Given the description of an element on the screen output the (x, y) to click on. 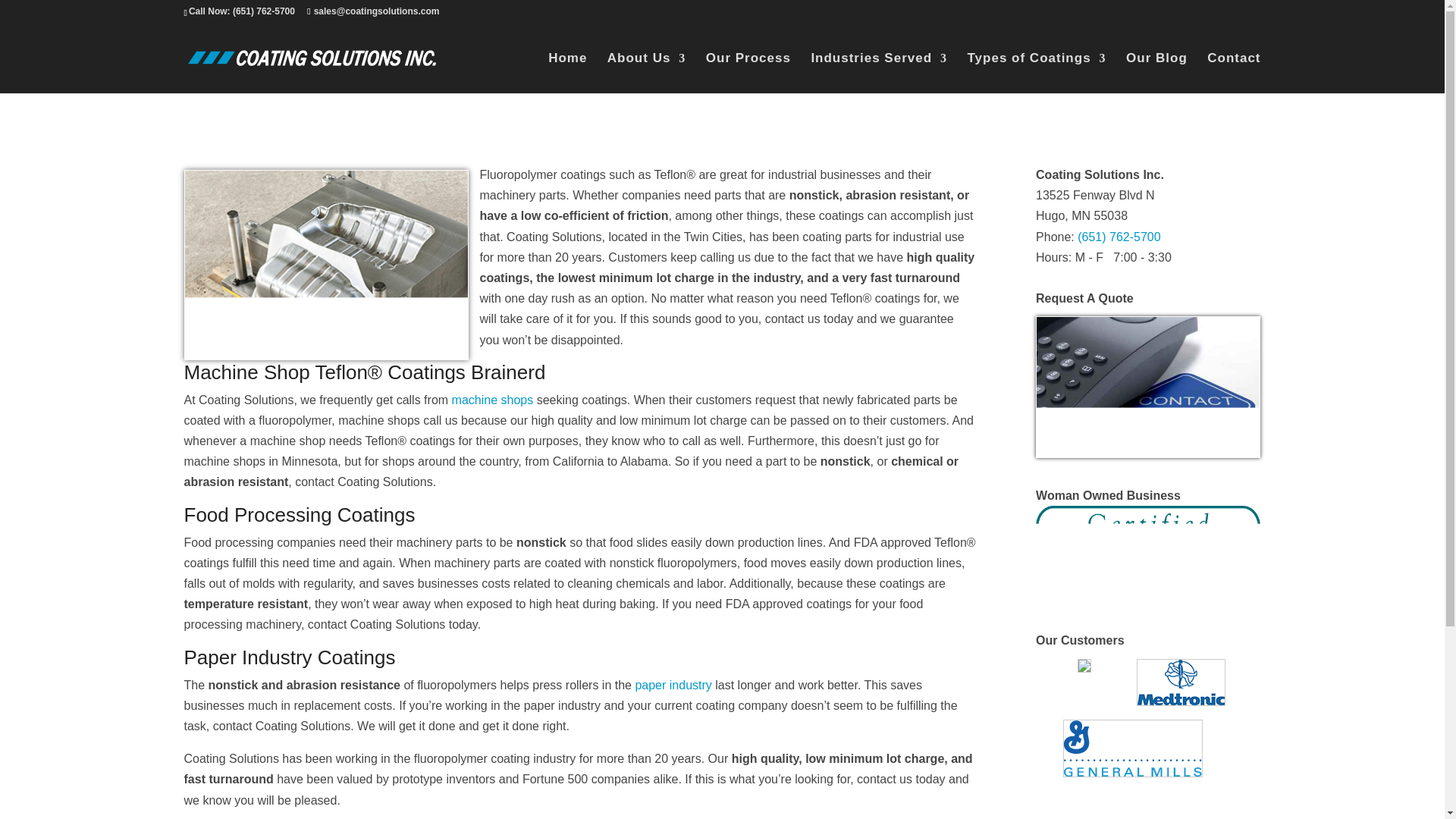
About Us (646, 72)
machine shops (492, 399)
Types of Coatings (1037, 72)
Contact (1233, 72)
Our Process (748, 72)
Industries Served (878, 72)
Home (567, 72)
Our Blog (1156, 72)
paper industry (672, 684)
